Given the description of an element on the screen output the (x, y) to click on. 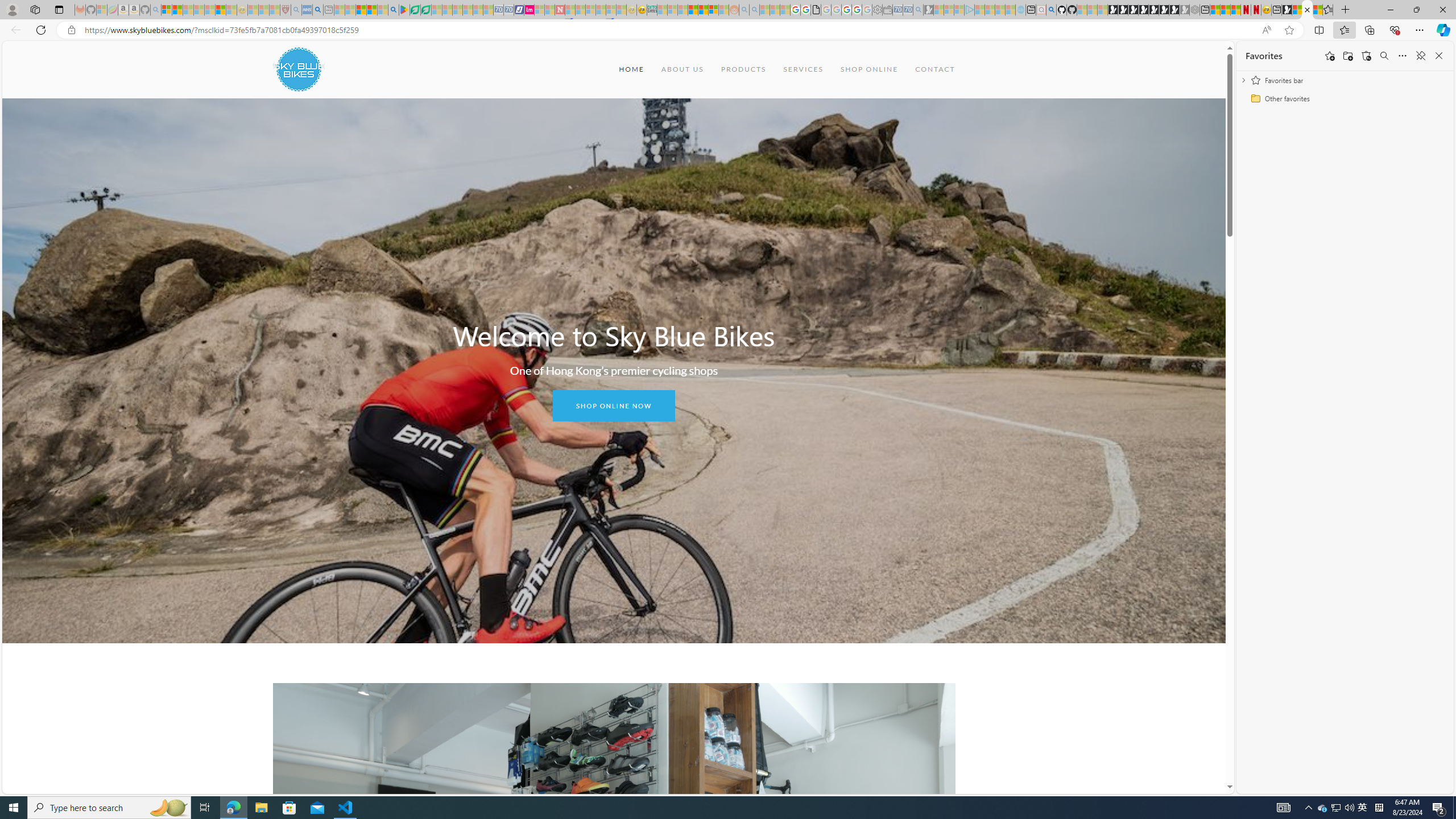
list of asthma inhalers uk - Search - Sleeping (296, 9)
Play Free Online Games | Games from Microsoft Start (1112, 9)
HOME (631, 68)
New tab - Sleeping (328, 9)
google - Search (392, 9)
Add folder (1347, 55)
Restore deleted favorites (1366, 55)
MSN (1286, 9)
